Given the description of an element on the screen output the (x, y) to click on. 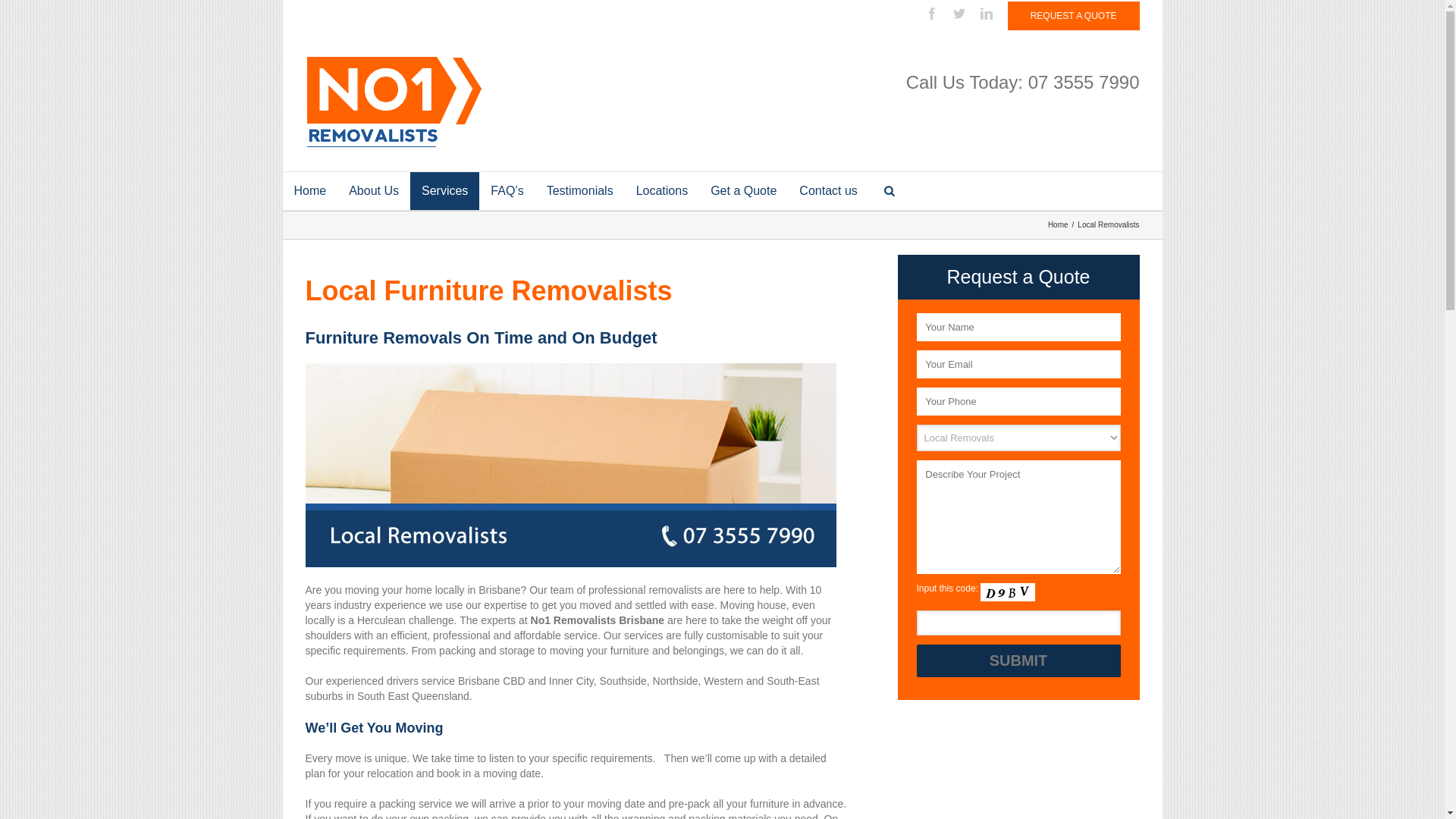
Local Removalists Brisbane - Queensland Element type: hover (569, 465)
Get a Quote Element type: text (743, 191)
Twitter Element type: hover (959, 13)
SUBMIT Element type: text (1018, 660)
Home Element type: text (1060, 224)
REQUEST A QUOTE Element type: text (1073, 15)
Testimonials Element type: text (579, 191)
Locations Element type: text (661, 191)
Facebook Element type: hover (931, 13)
Home Element type: text (309, 191)
Linkedin Element type: hover (986, 13)
Contact us Element type: text (827, 191)
About Us Element type: text (373, 191)
Services Element type: text (444, 191)
